Given the description of an element on the screen output the (x, y) to click on. 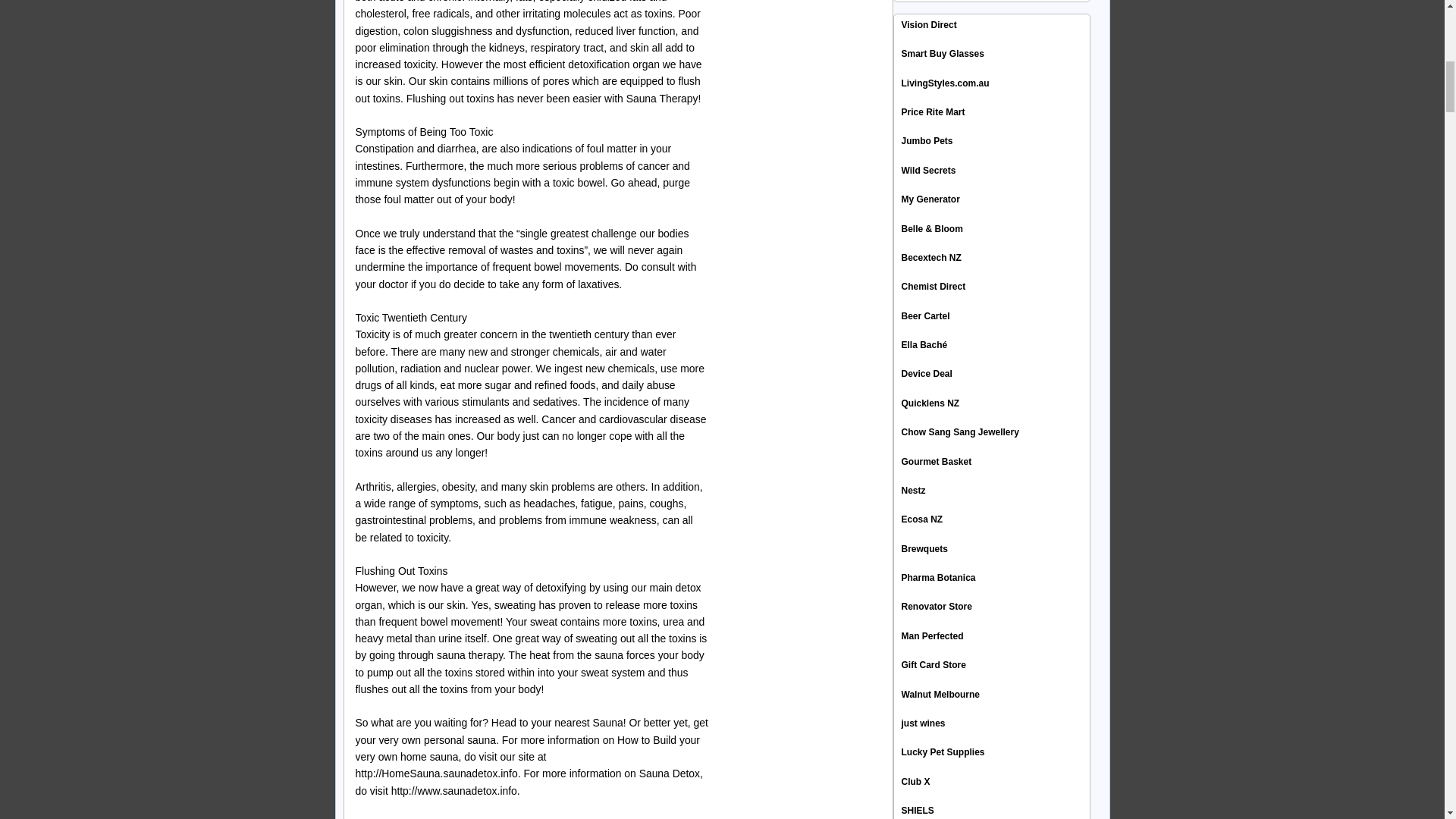
Price Rite Mart (932, 112)
Smart Buy Glasses (942, 53)
My Generator (930, 199)
Wild Secrets (928, 170)
Vision Direct (928, 24)
LivingStyles.com.au (944, 82)
Jumbo Pets (926, 140)
